Given the description of an element on the screen output the (x, y) to click on. 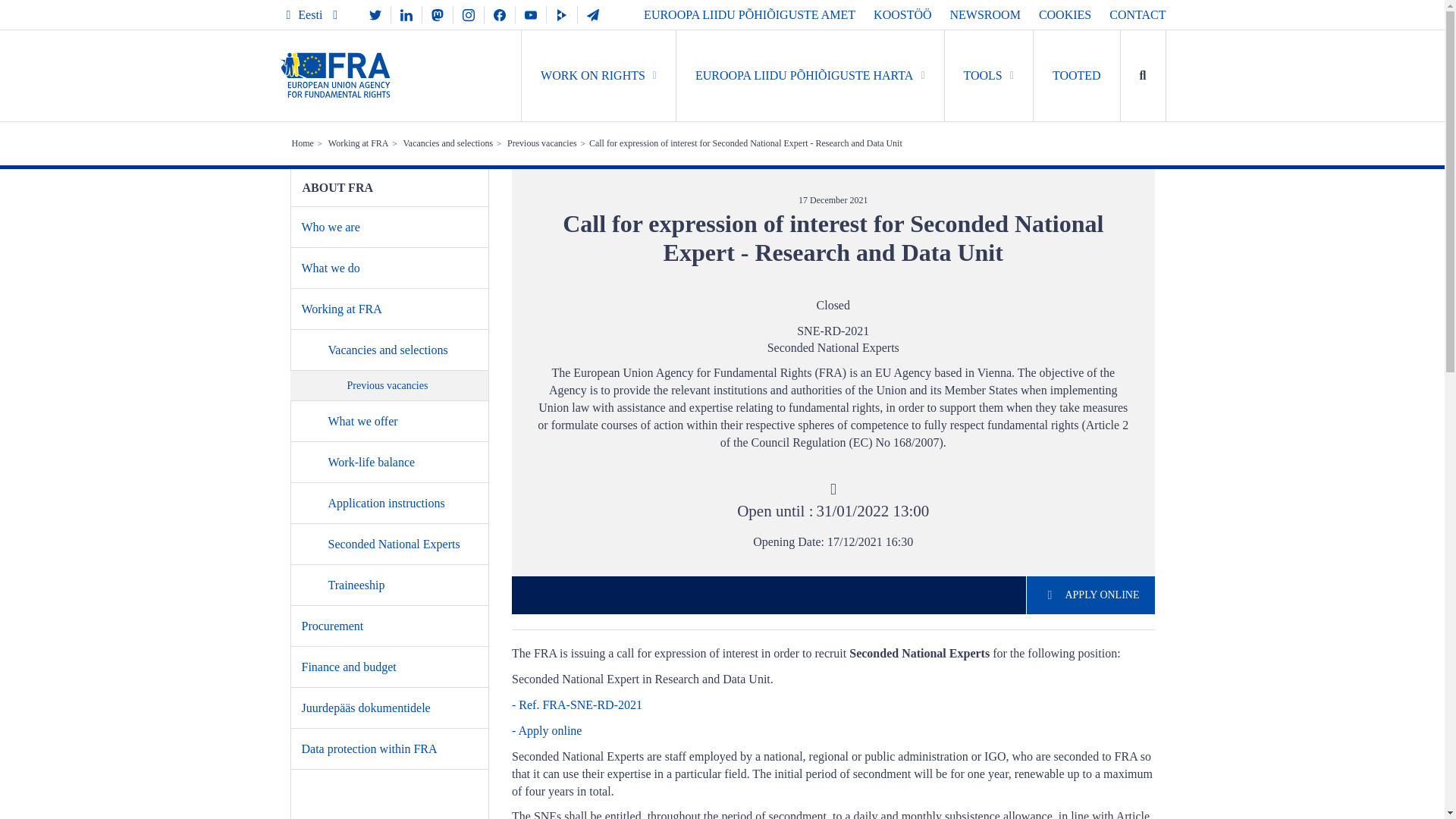
FRA's Mastodon channel (437, 13)
FRA's LinkedIn channel (406, 13)
Newsletter (593, 13)
CONTACT (1137, 14)
FRA's Instagram channel (467, 13)
FRA's PeerTube channel (561, 13)
Mastodon (437, 13)
Instagram (467, 13)
FRA's YouTube channel (530, 13)
Facebook (499, 13)
YouTube (530, 13)
FRA's Twitter channel (374, 13)
NEWSROOM (985, 14)
Subscribe to FRA's newsletter (593, 13)
